Given the description of an element on the screen output the (x, y) to click on. 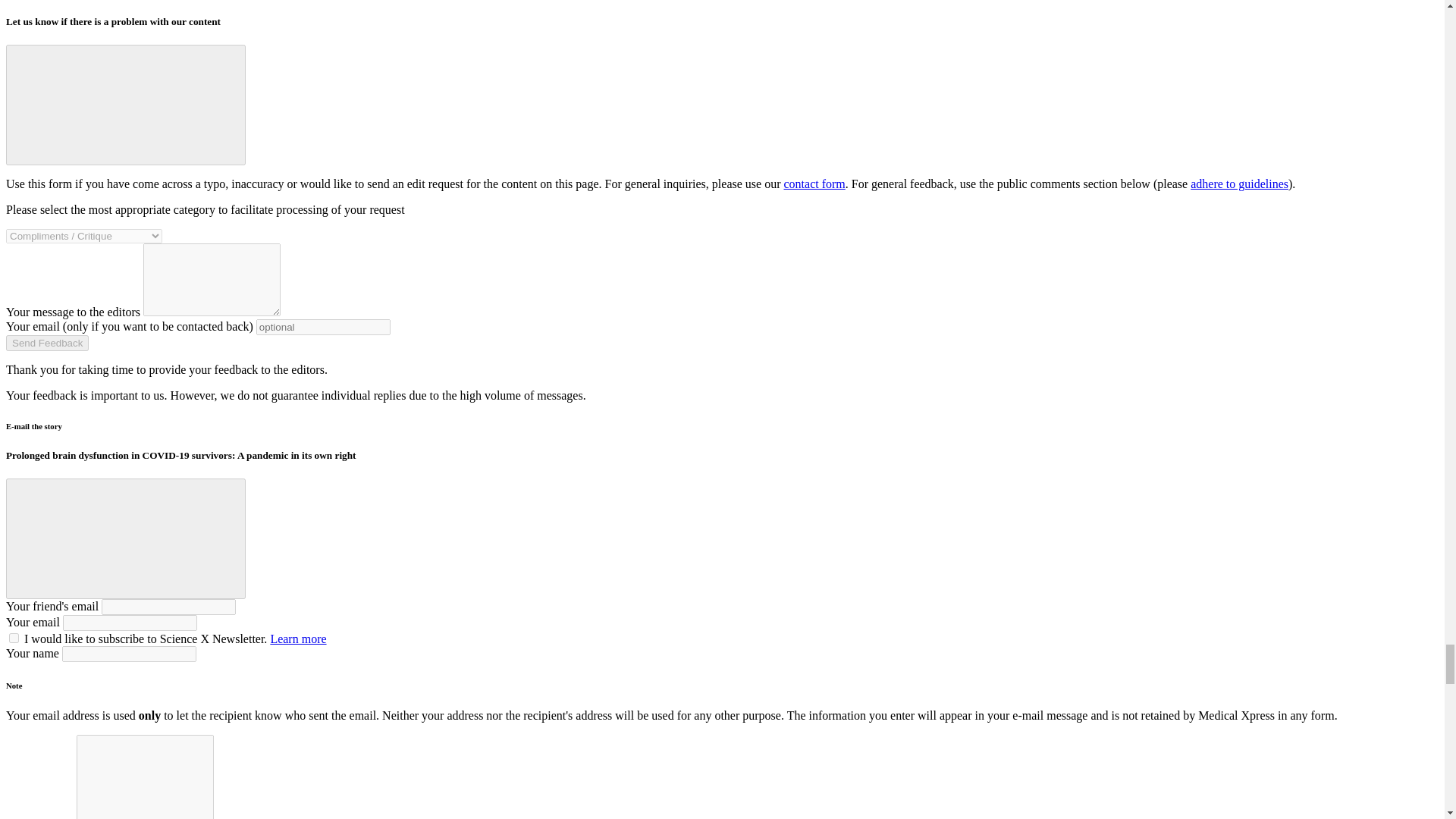
1 (13, 637)
